Given the description of an element on the screen output the (x, y) to click on. 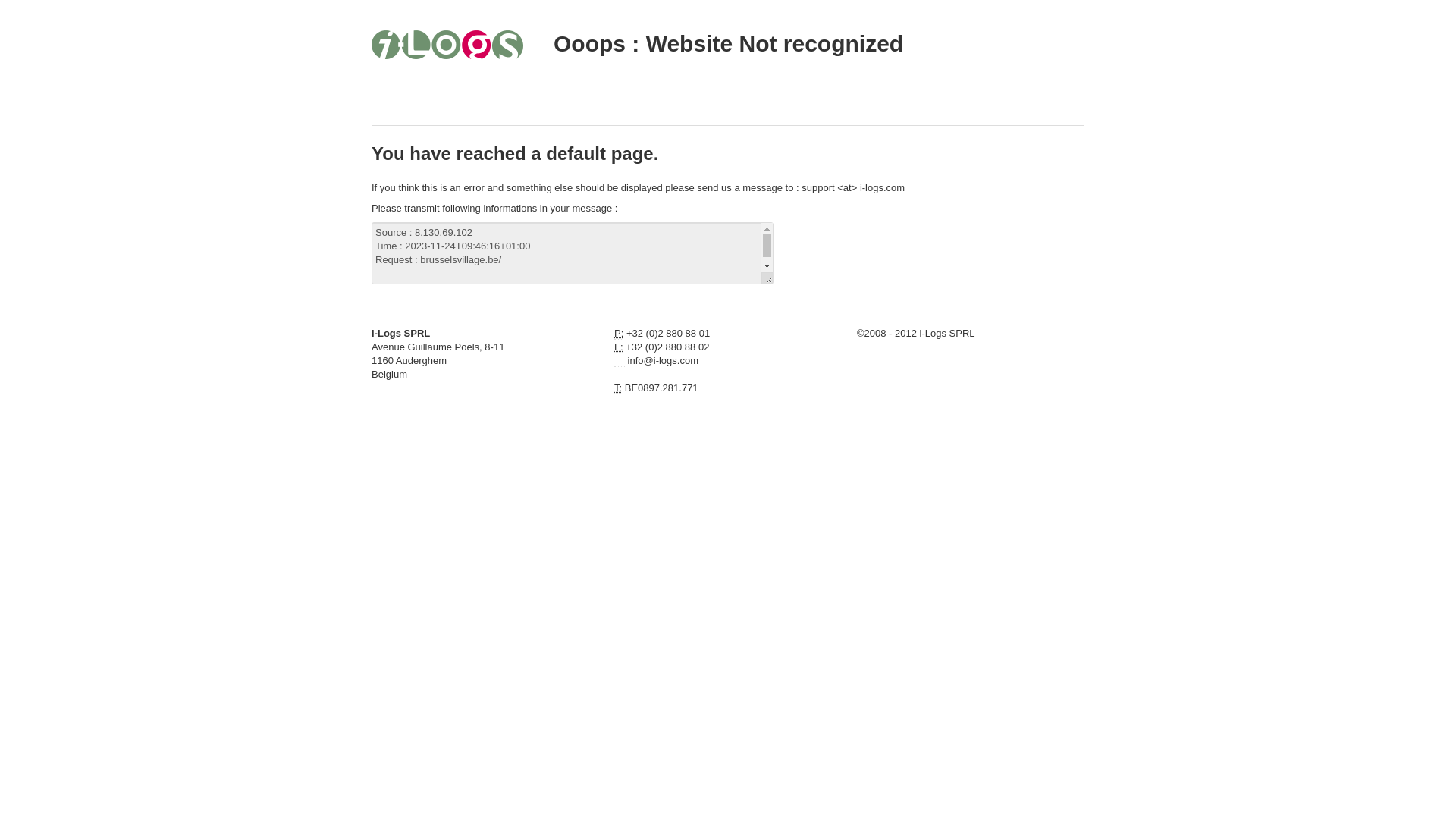
Email Element type: hover (619, 360)
